Given the description of an element on the screen output the (x, y) to click on. 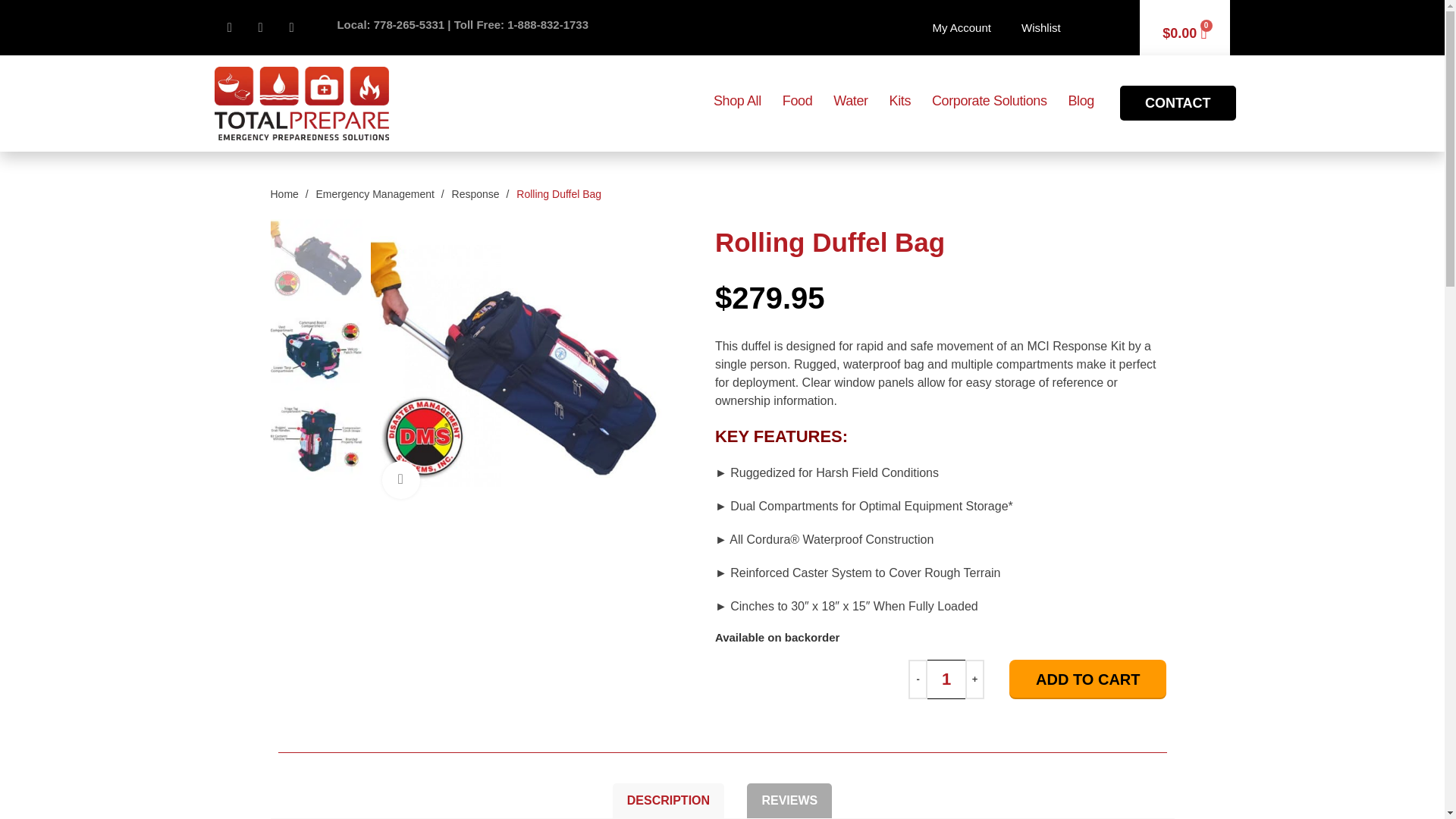
1 (946, 679)
Wishlist (1040, 27)
My Account (961, 27)
Shop All (736, 100)
